Given the description of an element on the screen output the (x, y) to click on. 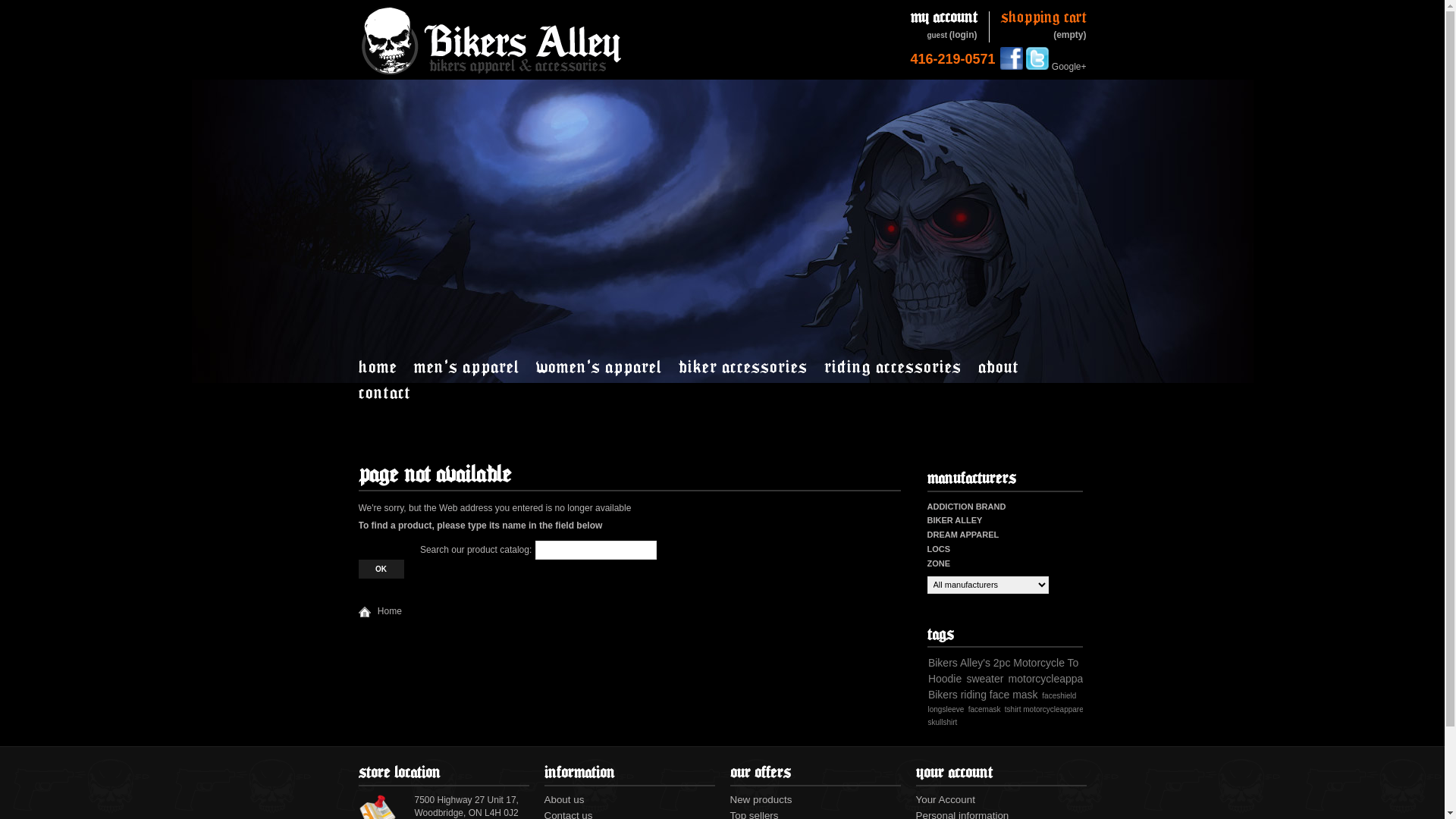
riding accessories Element type: text (899, 366)
biker accessories Element type: text (749, 366)
DREAM APPAREL Element type: text (962, 534)
Home Element type: text (379, 610)
OK Element type: text (380, 568)
(login) Element type: text (963, 34)
LOCS Element type: text (938, 548)
About us Element type: text (564, 799)
women's apparel Element type: text (605, 366)
Your Account Element type: text (945, 799)
facemask Element type: text (984, 709)
skullshirt Element type: text (942, 722)
my account Element type: text (943, 17)
tshirt motorcycleapparel Element type: text (1044, 709)
faceshield Element type: text (1058, 695)
Bikers riding face mask Element type: text (983, 694)
ZONE Element type: text (938, 562)
longsleeve Element type: text (946, 709)
men's apparel Element type: text (474, 366)
Google+ Element type: text (1068, 66)
sweater Element type: text (984, 678)
New products Element type: text (760, 799)
contact Element type: text (391, 391)
about Element type: text (1006, 366)
manufacturers Element type: text (970, 477)
motorcycleapparel Element type: text (1051, 678)
Hoodie Element type: text (944, 678)
Bikers Alley's 2pc Motorcycle To Element type: text (1003, 662)
BIKER ALLEY Element type: text (954, 519)
home Element type: text (384, 366)
shopping cart Element type: text (1043, 18)
ADDICTION BRAND Element type: text (965, 506)
